Given the description of an element on the screen output the (x, y) to click on. 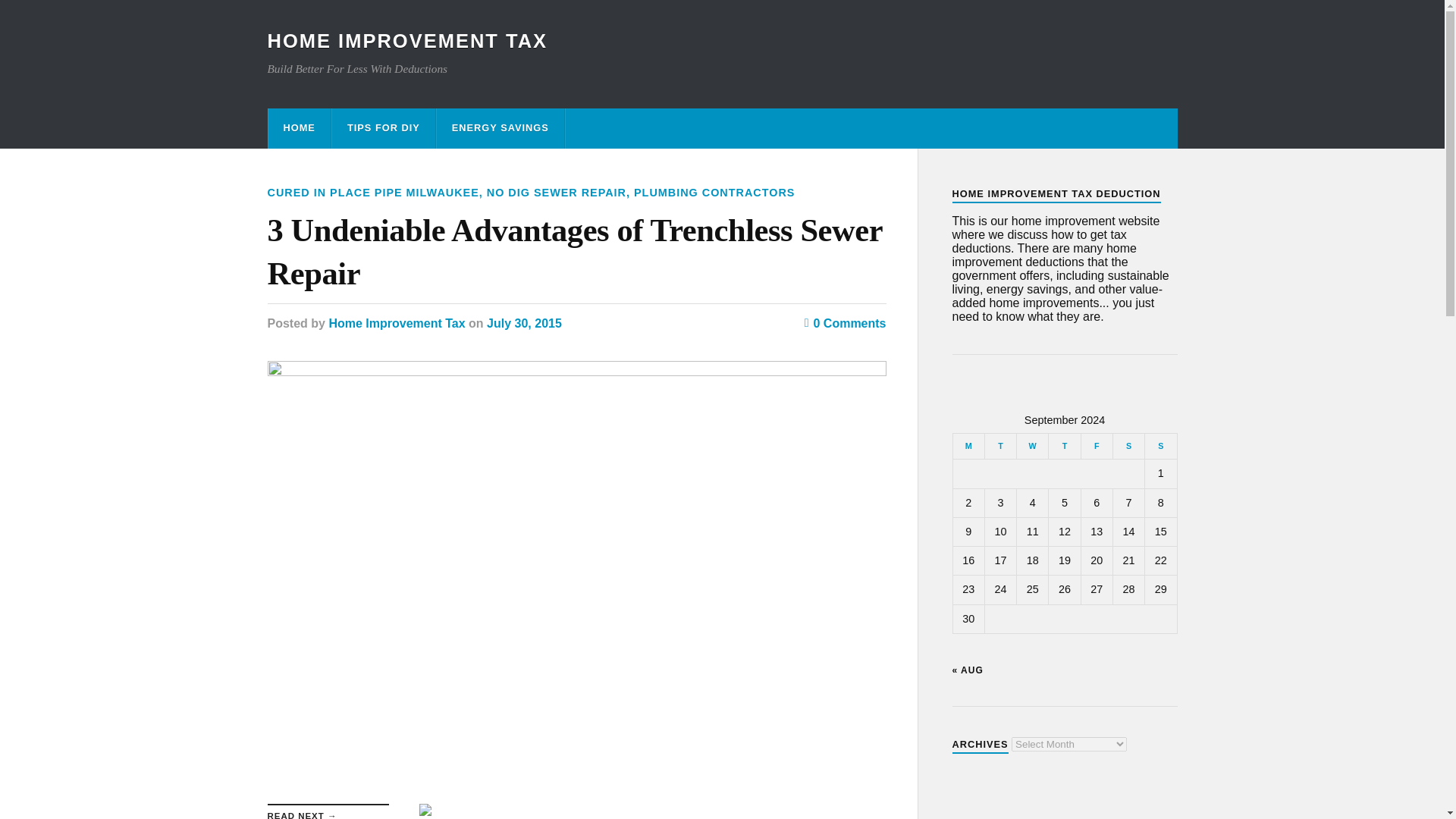
HOME (298, 128)
0 Comments (845, 323)
Tuesday (1000, 446)
Sunday (1160, 446)
Monday (968, 446)
ENERGY SAVINGS (500, 128)
July 30, 2015 (524, 323)
CURED IN PLACE PIPE MILWAUKEE (372, 192)
NO DIG SEWER REPAIR (556, 192)
Thursday (1064, 446)
